Given the description of an element on the screen output the (x, y) to click on. 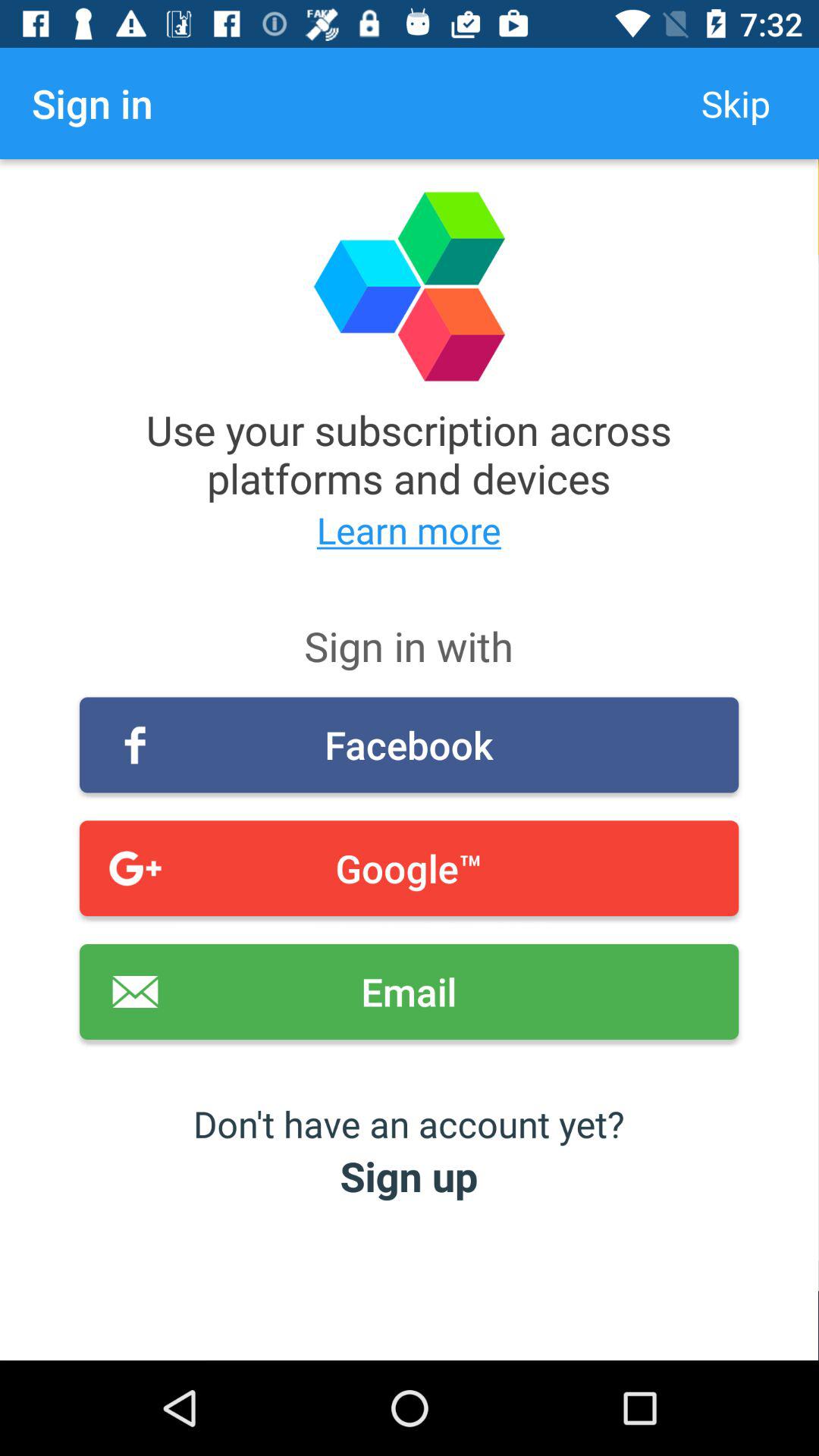
choose icon below the don t have (409, 1175)
